Given the description of an element on the screen output the (x, y) to click on. 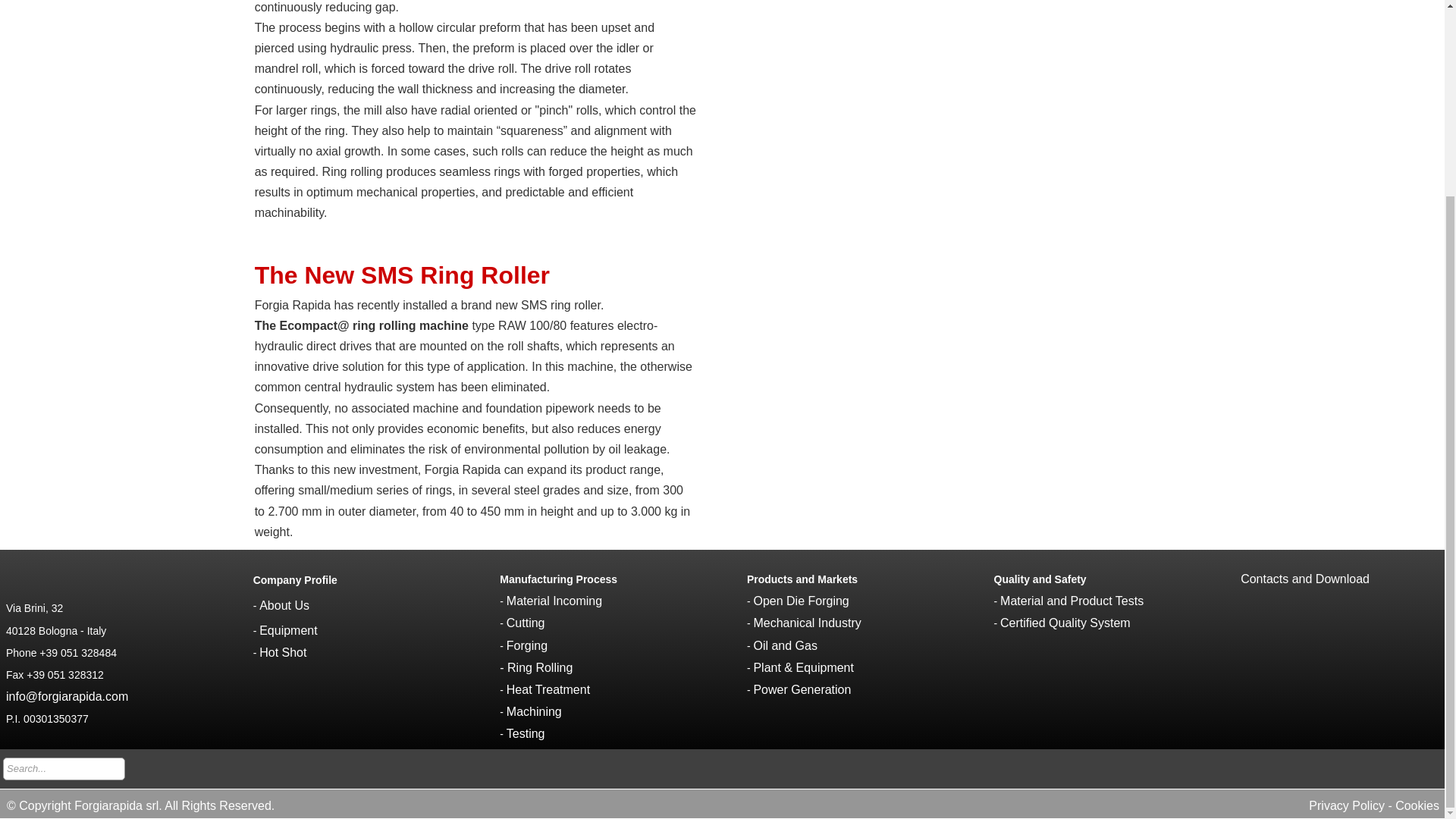
Testing (525, 733)
Machining (534, 711)
Forging (526, 645)
Ring Rolling (539, 667)
About Us (283, 604)
Hot Shot (282, 652)
Material Incoming (554, 600)
Open Die Forging (800, 600)
Cutting (525, 622)
Heat Treatment (547, 689)
